Given the description of an element on the screen output the (x, y) to click on. 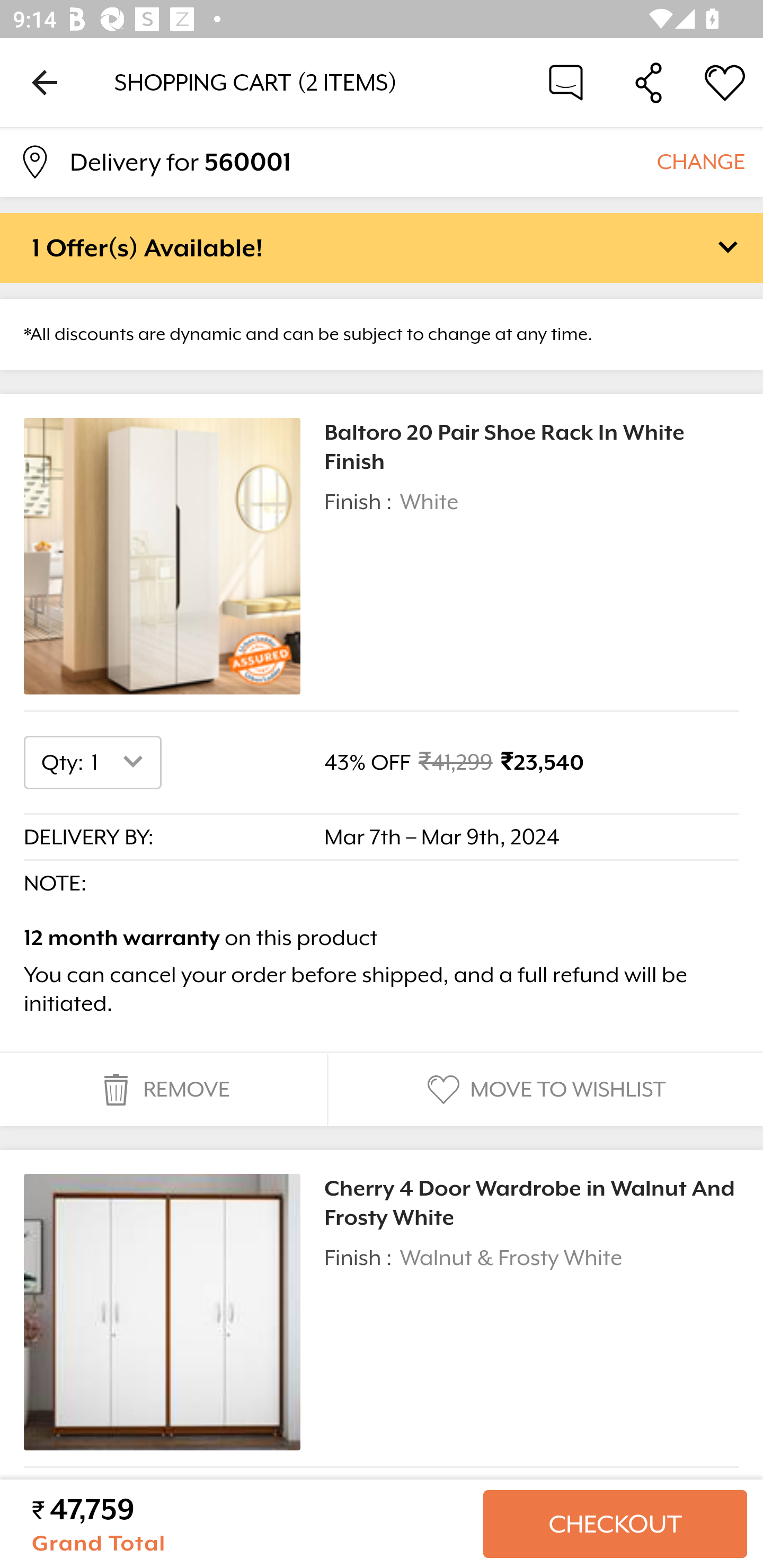
Navigate up (44, 82)
Chat (565, 81)
Share Cart (648, 81)
Wishlist (724, 81)
CHANGE (700, 161)
1 Offer(s) Available! (381, 247)
1 (121, 761)
REMOVE (163, 1089)
MOVE TO WISHLIST (544, 1089)
₹ 47,759 Grand Total (250, 1523)
CHECKOUT (614, 1523)
